Given the description of an element on the screen output the (x, y) to click on. 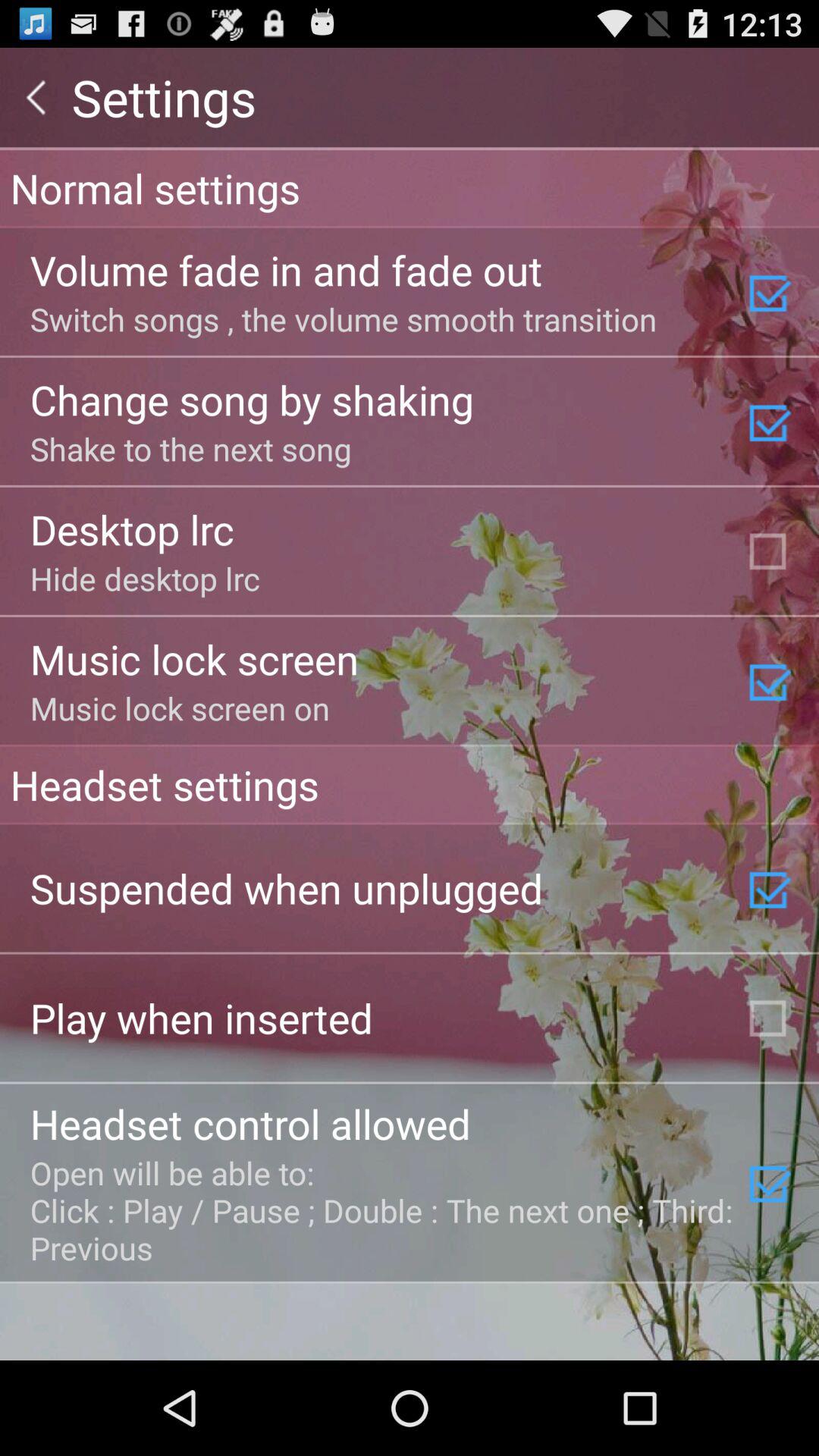
tap the item below switch songs the item (251, 399)
